Given the description of an element on the screen output the (x, y) to click on. 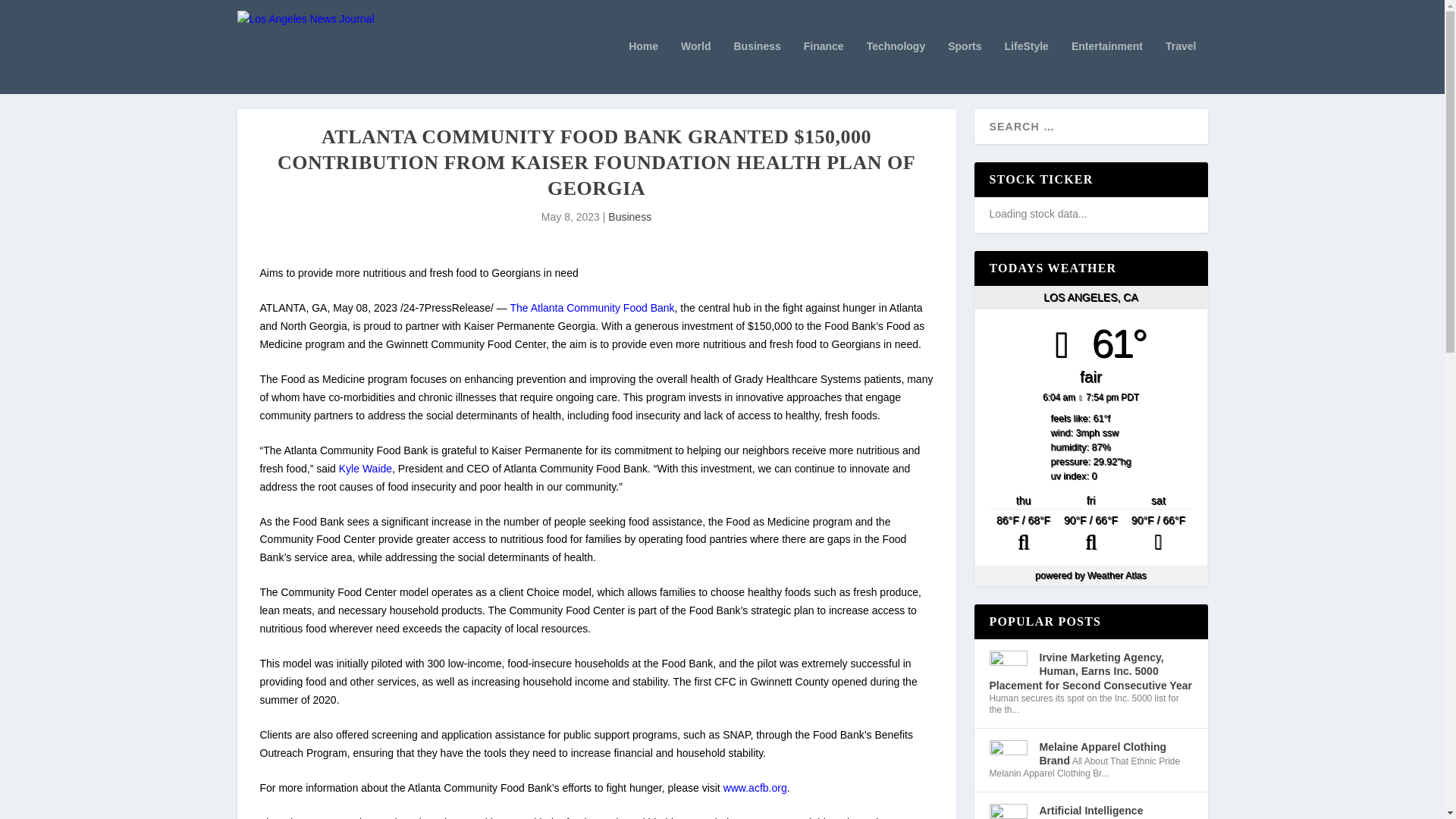
Finance (823, 67)
Partly Cloudy (1023, 534)
The Atlanta Community Food Bank (591, 307)
Business (756, 67)
LifeStyle (1026, 67)
World (695, 67)
Kyle Waide (365, 468)
Partly Cloudy (1090, 534)
Sunny (1158, 534)
Entertainment (1106, 67)
Business (629, 216)
Sports (964, 67)
Technology (896, 67)
www.acfb.org (755, 787)
Home (643, 67)
